Given the description of an element on the screen output the (x, y) to click on. 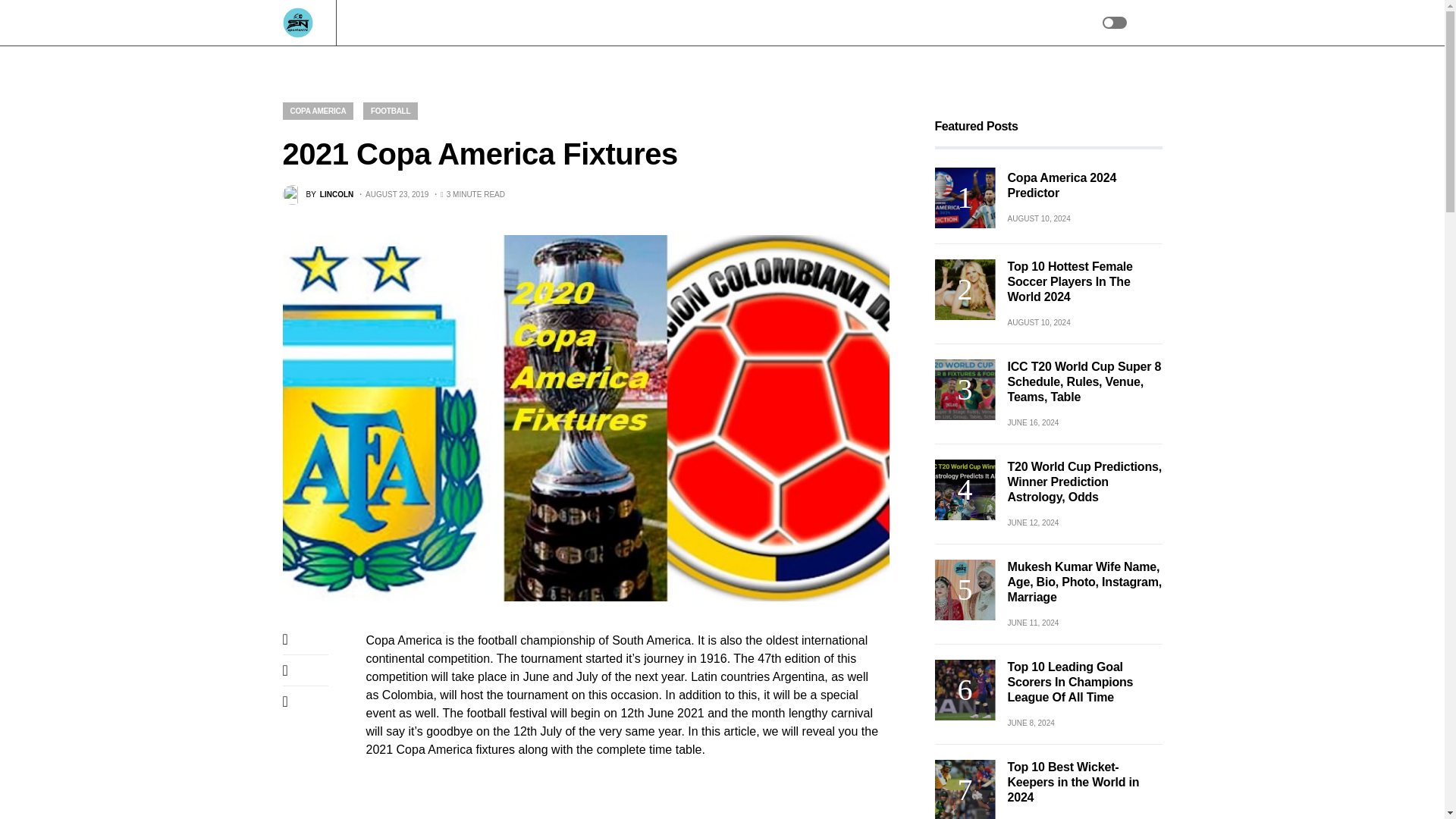
Football (516, 22)
View all posts by Lincoln (317, 194)
Motor Sports (640, 22)
